Given the description of an element on the screen output the (x, y) to click on. 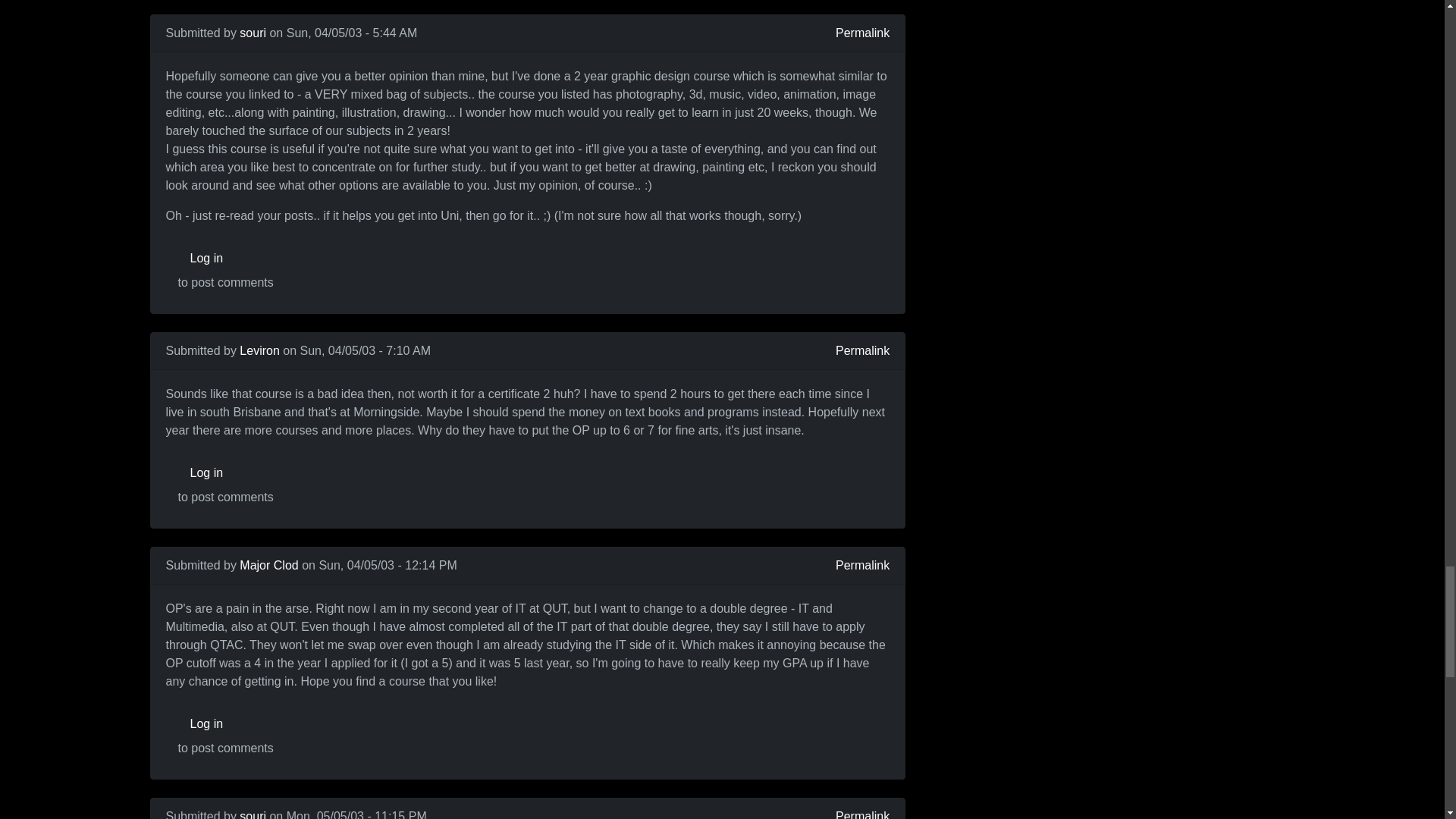
View user profile. (259, 350)
View user profile. (269, 564)
View user profile. (253, 32)
